Given the description of an element on the screen output the (x, y) to click on. 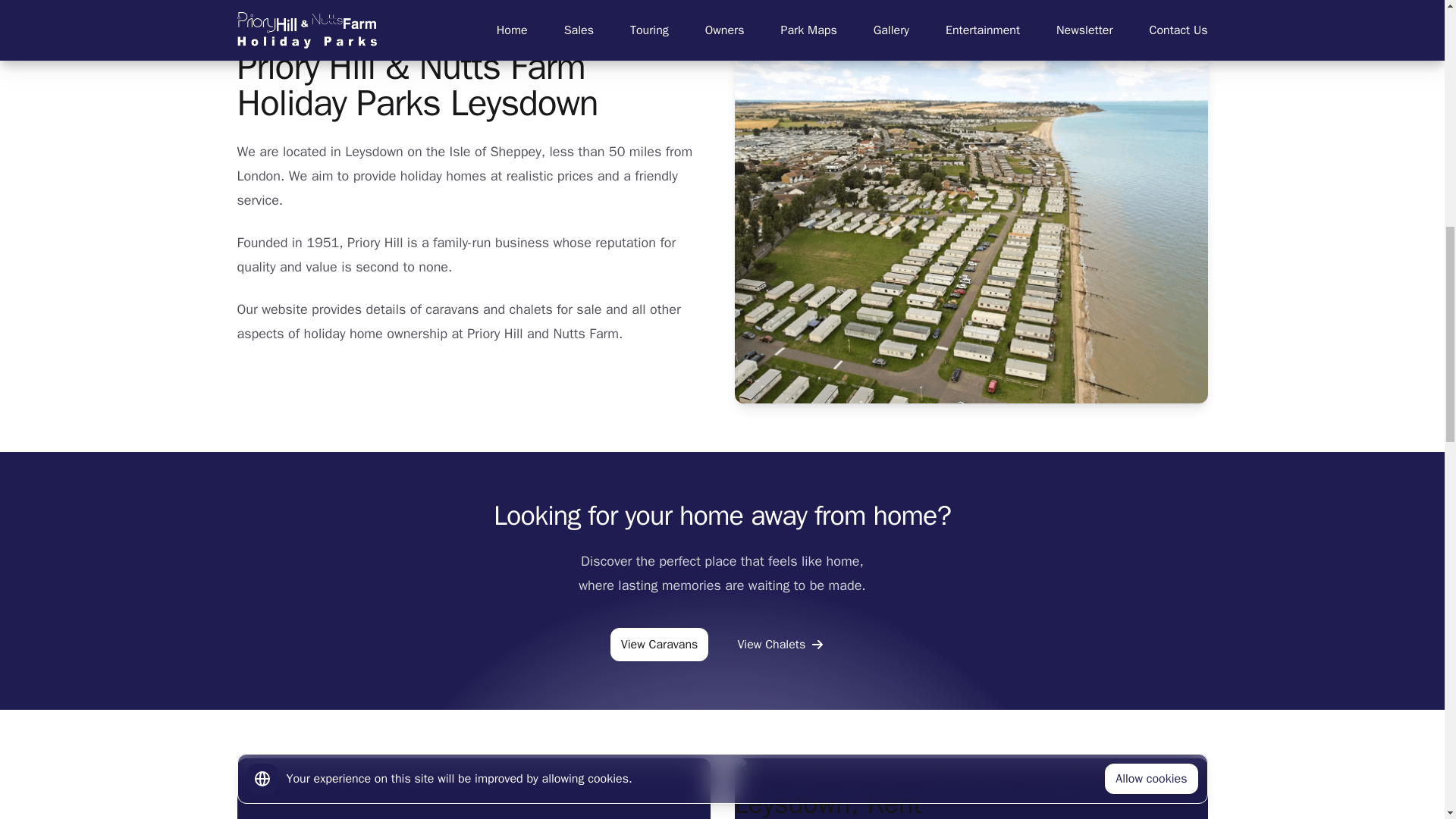
Kids Games performing at Priory Hill in Leysdown, Kent (970, 788)
View Caravans (659, 644)
Holiday Parks Leysdown, Kent, ME12 (472, 788)
